Given the description of an element on the screen output the (x, y) to click on. 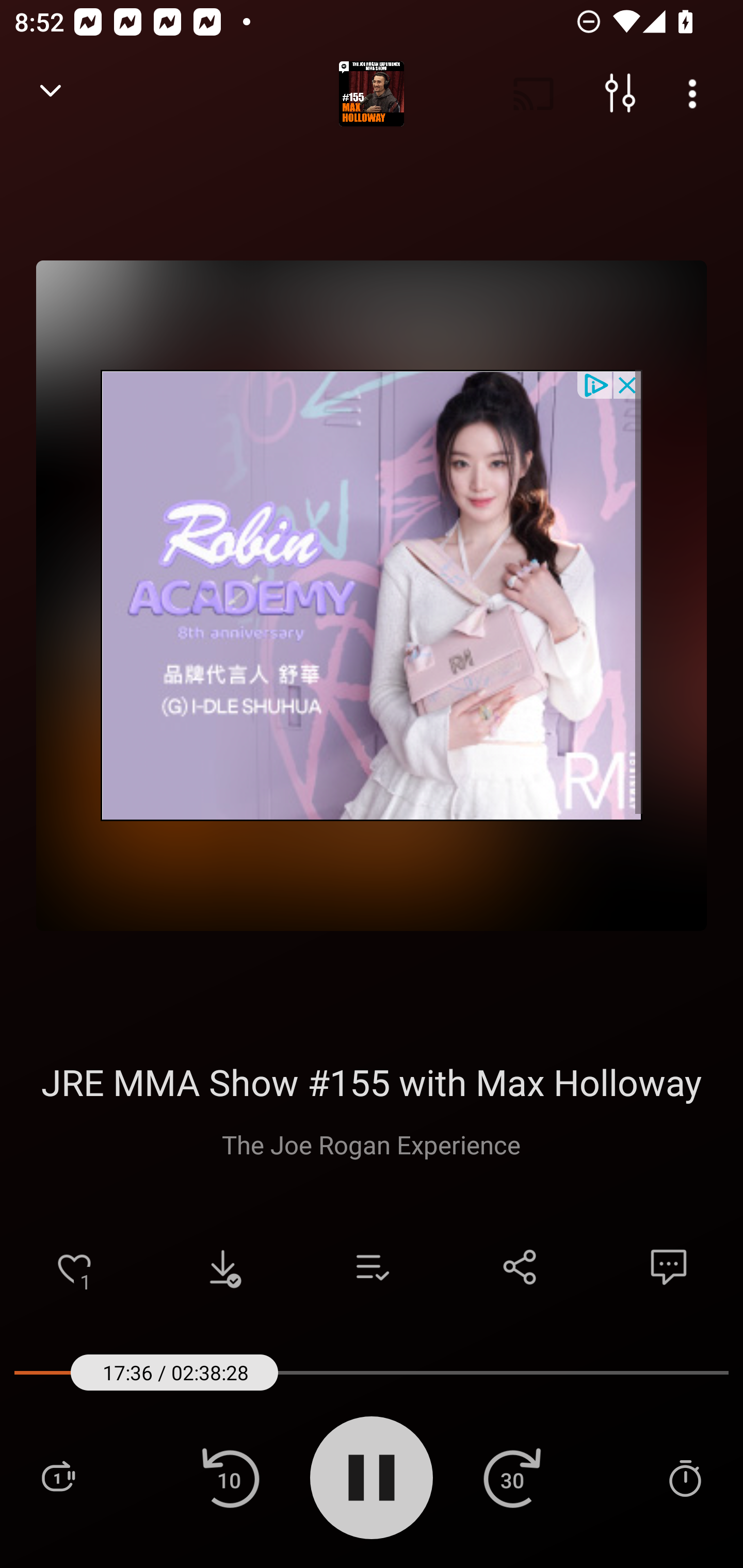
 Back (50, 94)
JRE MMA Show #155 with Max Holloway (370, 1081)
The Joe Rogan Experience (370, 1144)
Comments (668, 1266)
Add to Favorites (73, 1266)
Add to playlist (371, 1266)
Share (519, 1266)
 Playlist (57, 1477)
Sleep Timer  (684, 1477)
